Given the description of an element on the screen output the (x, y) to click on. 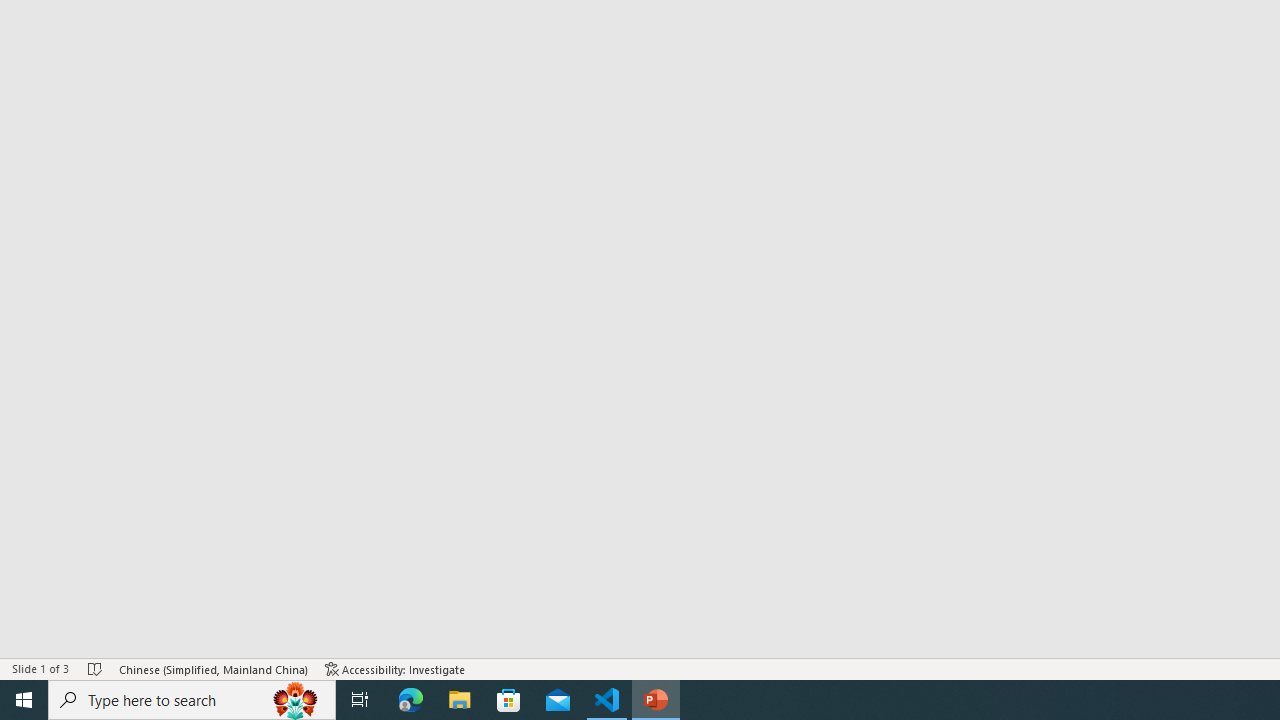
Spell Check No Errors (95, 668)
Accessibility Checker Accessibility: Investigate (395, 668)
